Given the description of an element on the screen output the (x, y) to click on. 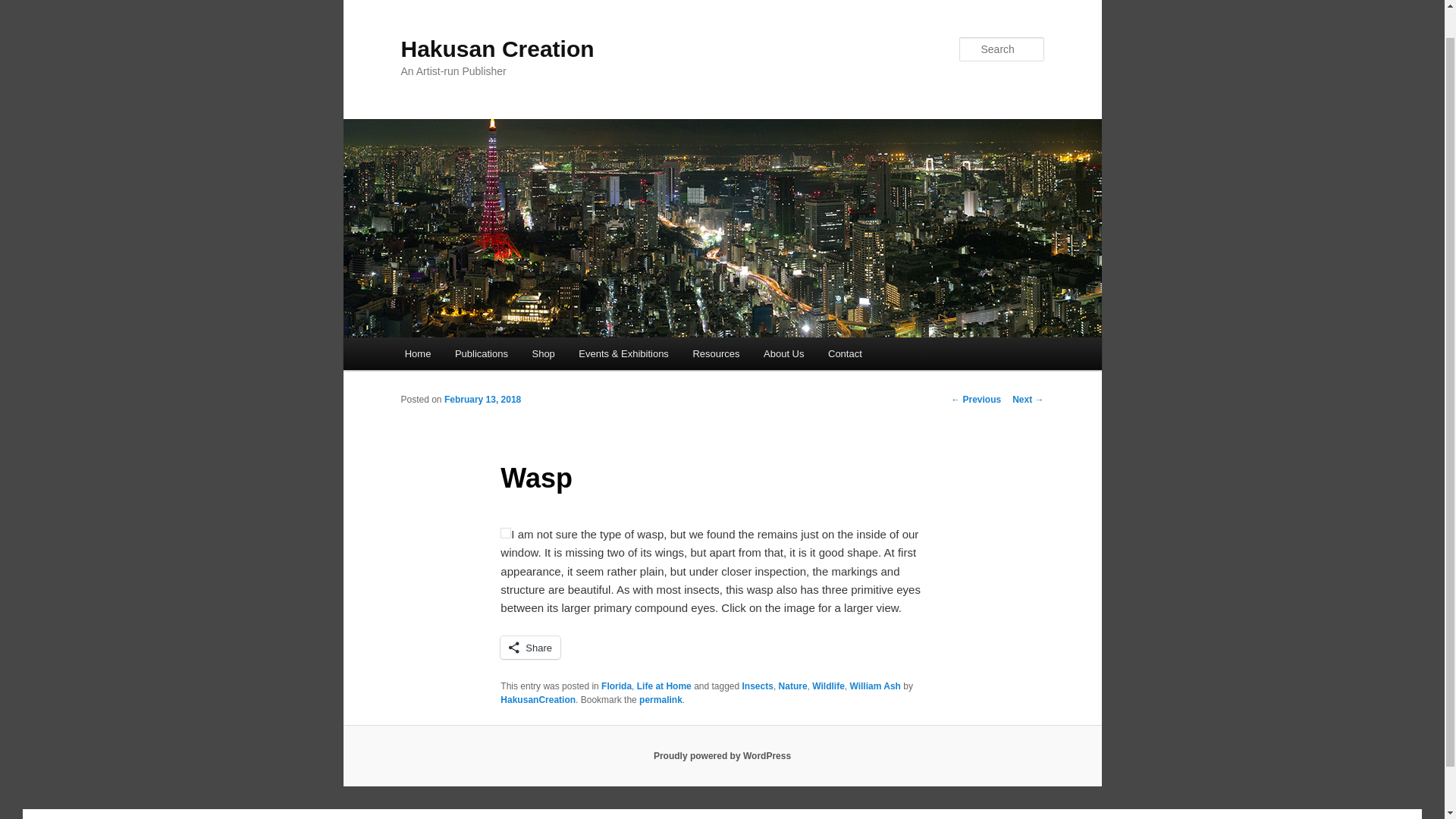
HakusanCreation (537, 699)
Proudly powered by WordPress (721, 756)
Contact (844, 353)
William Ash (873, 685)
Resources (716, 353)
Semantic Personal Publishing Platform (721, 756)
12:20 am (482, 398)
Insects (757, 685)
Publications (480, 353)
Wildlife (828, 685)
